Given the description of an element on the screen output the (x, y) to click on. 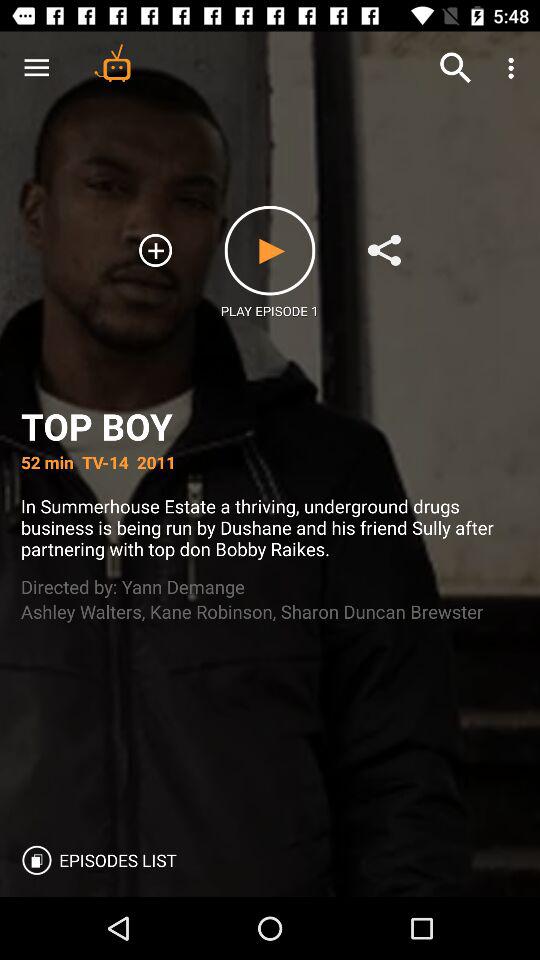
share video (383, 250)
